Given the description of an element on the screen output the (x, y) to click on. 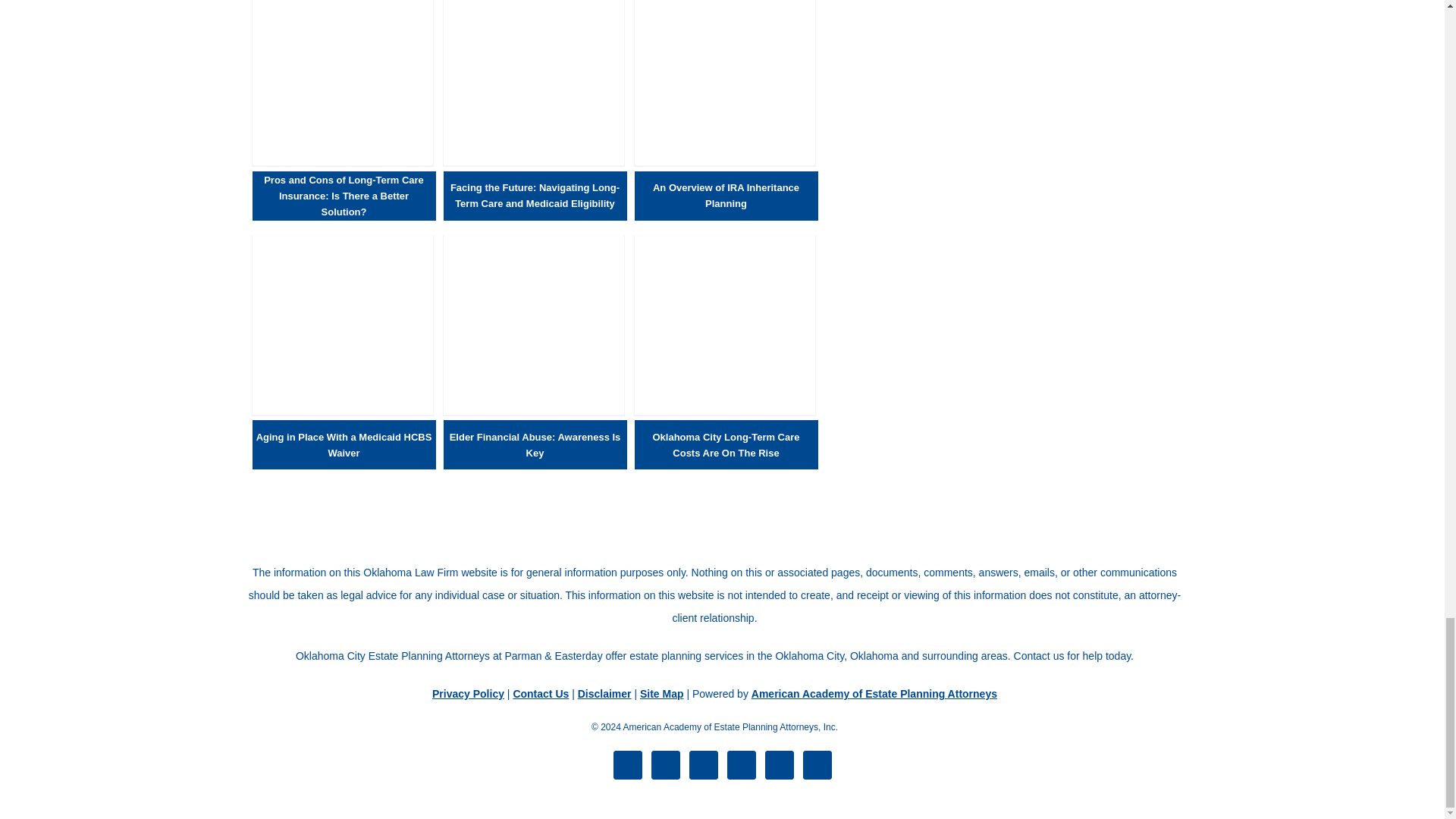
Oklahoma City Long-Term Care Costs Are On The Rise (726, 444)
Elder Financial Abuse: Awareness Is Key (534, 444)
An Overview of IRA Inheritance Planning (723, 160)
Elder Financial Abuse: Awareness Is Key (532, 410)
Aging in Place With a Medicaid HCBS Waiver (344, 444)
Aging in Place With a Medicaid HCBS Waiver (341, 410)
Oklahoma City Long-Term Care Costs Are On The Rise (723, 410)
An Overview of IRA Inheritance Planning (726, 195)
